Given the description of an element on the screen output the (x, y) to click on. 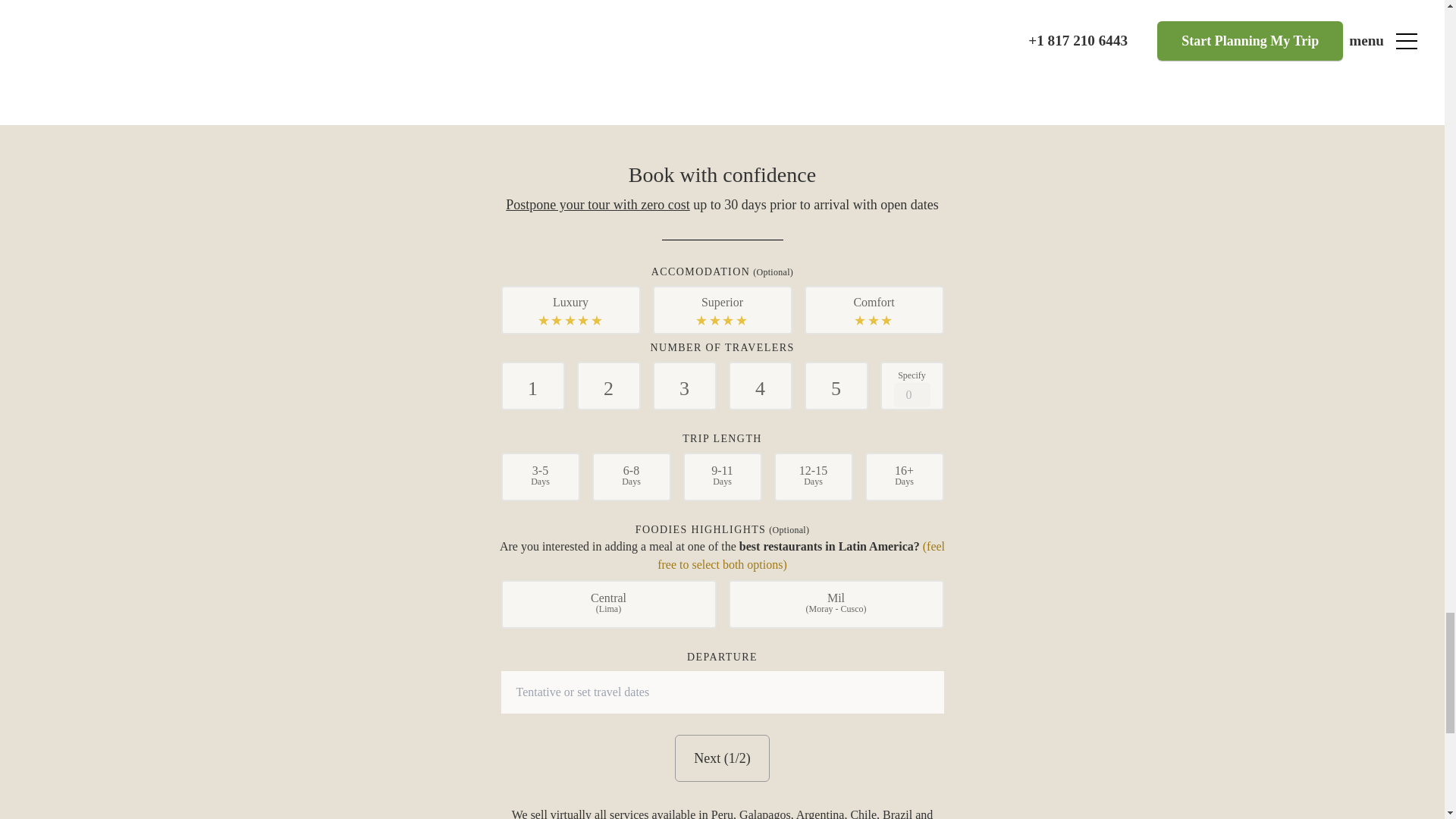
Postpone your tour with zero cost (596, 204)
